Given the description of an element on the screen output the (x, y) to click on. 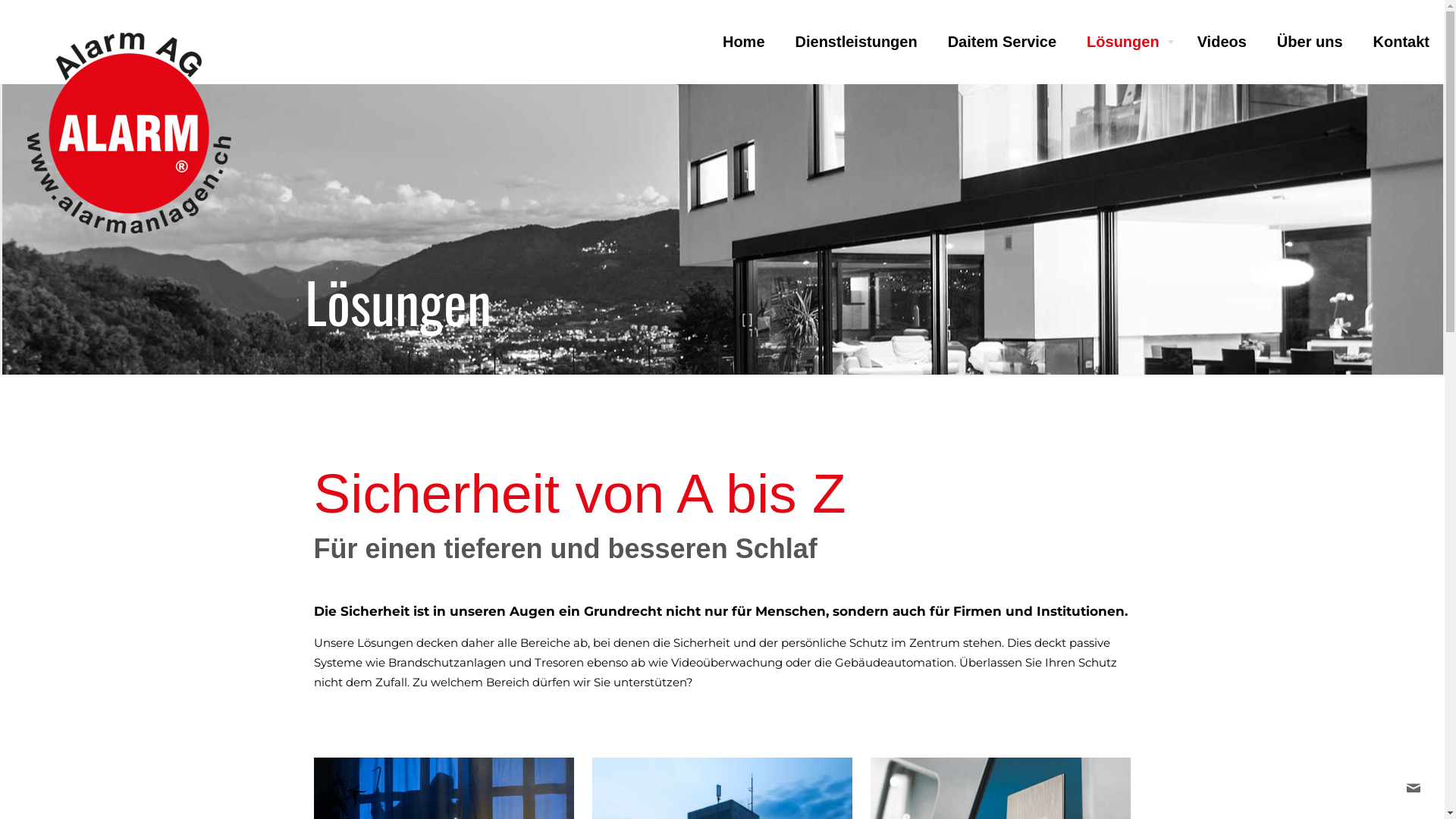
Kontakt Element type: text (1401, 41)
Daitem Service Element type: text (1001, 41)
Home Element type: text (743, 41)
Dienstleistungen Element type: text (856, 41)
Alarm AG Element type: hover (128, 132)
Videos Element type: text (1221, 41)
